Given the description of an element on the screen output the (x, y) to click on. 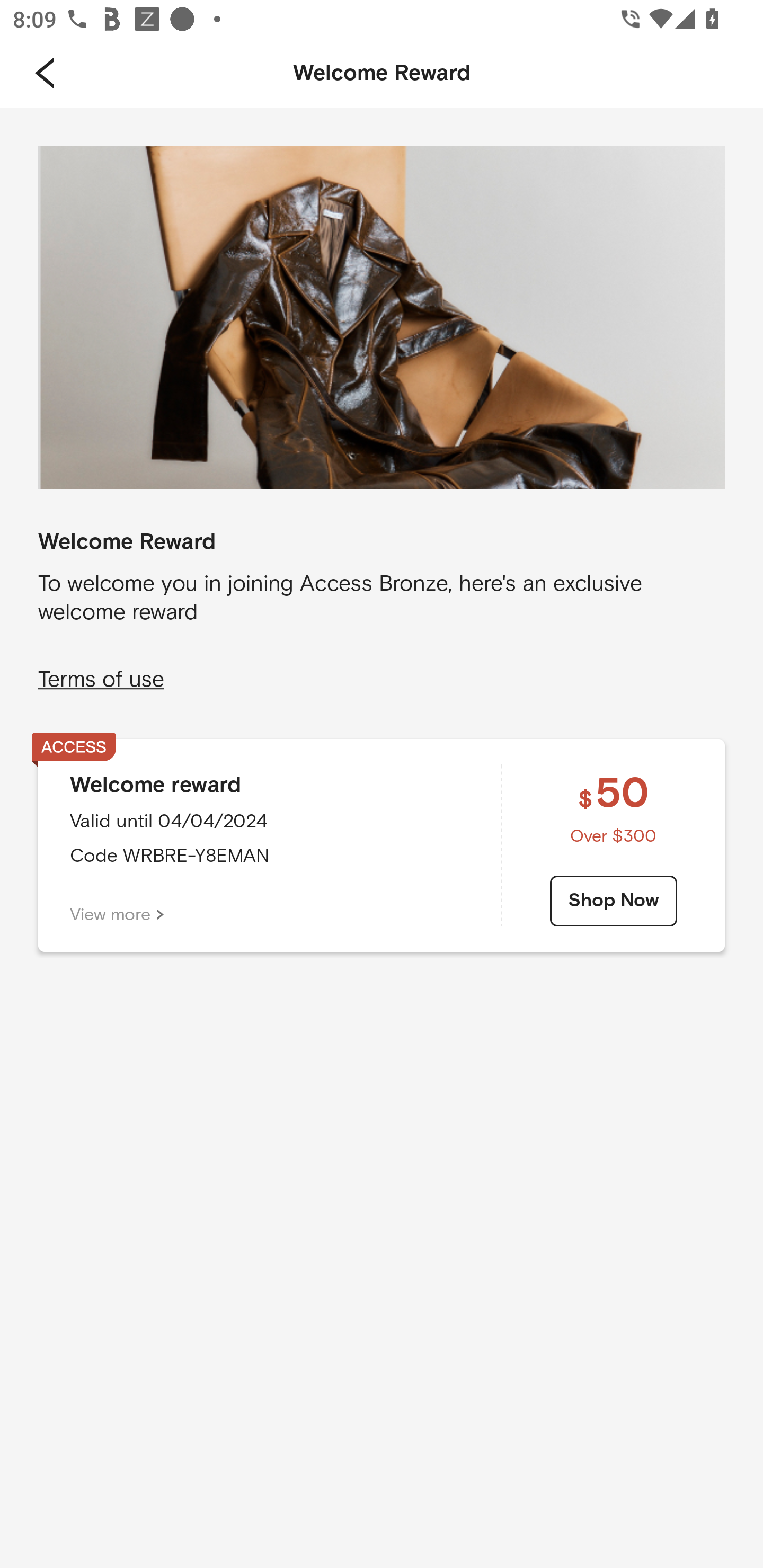
Shop Now (613, 900)
View more (117, 914)
